Given the description of an element on the screen output the (x, y) to click on. 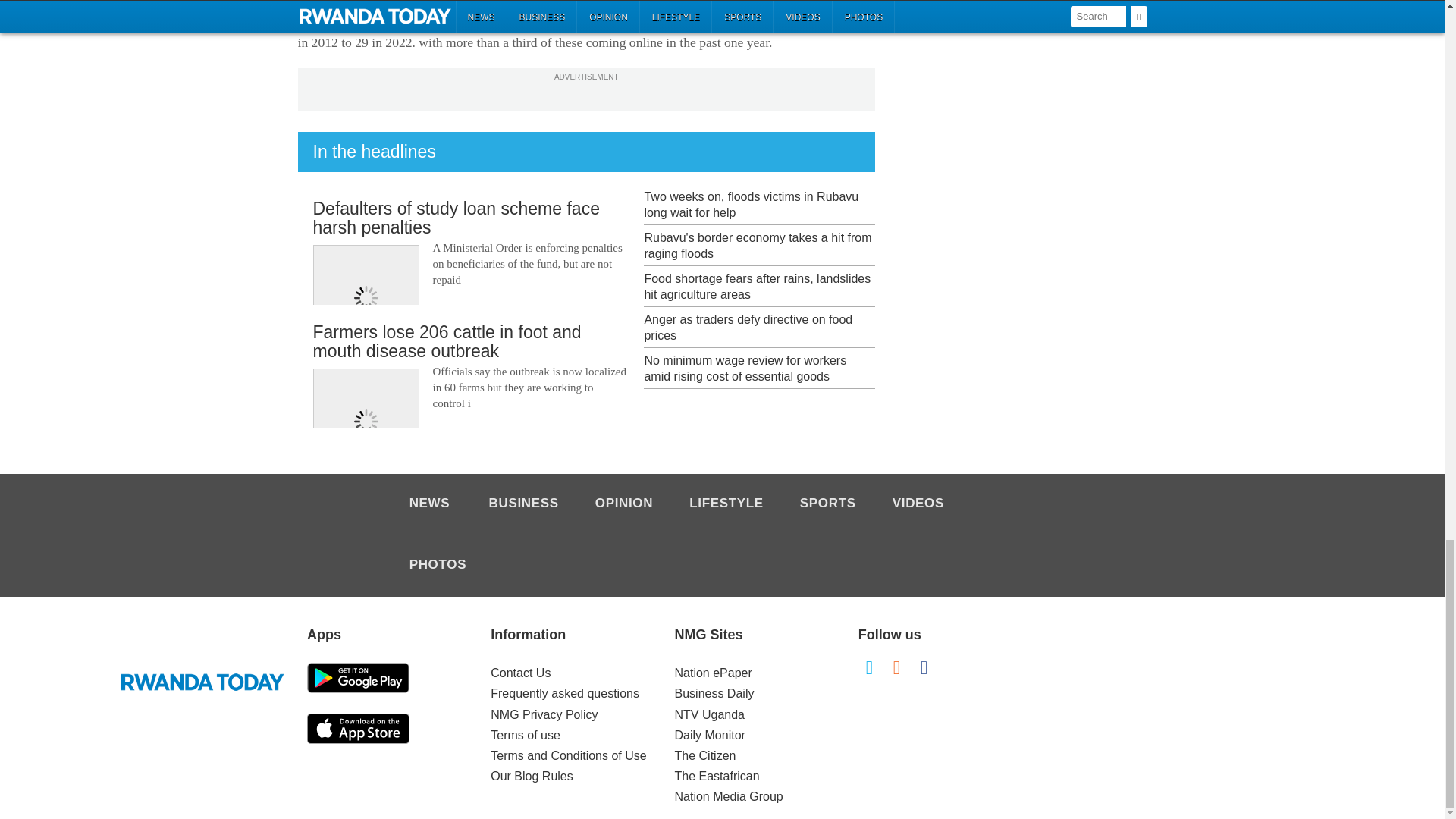
NTV Uganda (710, 713)
Daily Monitor (710, 735)
Our Blog Rules (531, 775)
Sports (827, 504)
Nation ePaper (713, 672)
Videos (917, 504)
Contact Us (520, 672)
Photos (437, 565)
Frequently asked questions (564, 693)
NMG Privacy Policy (543, 713)
